Given the description of an element on the screen output the (x, y) to click on. 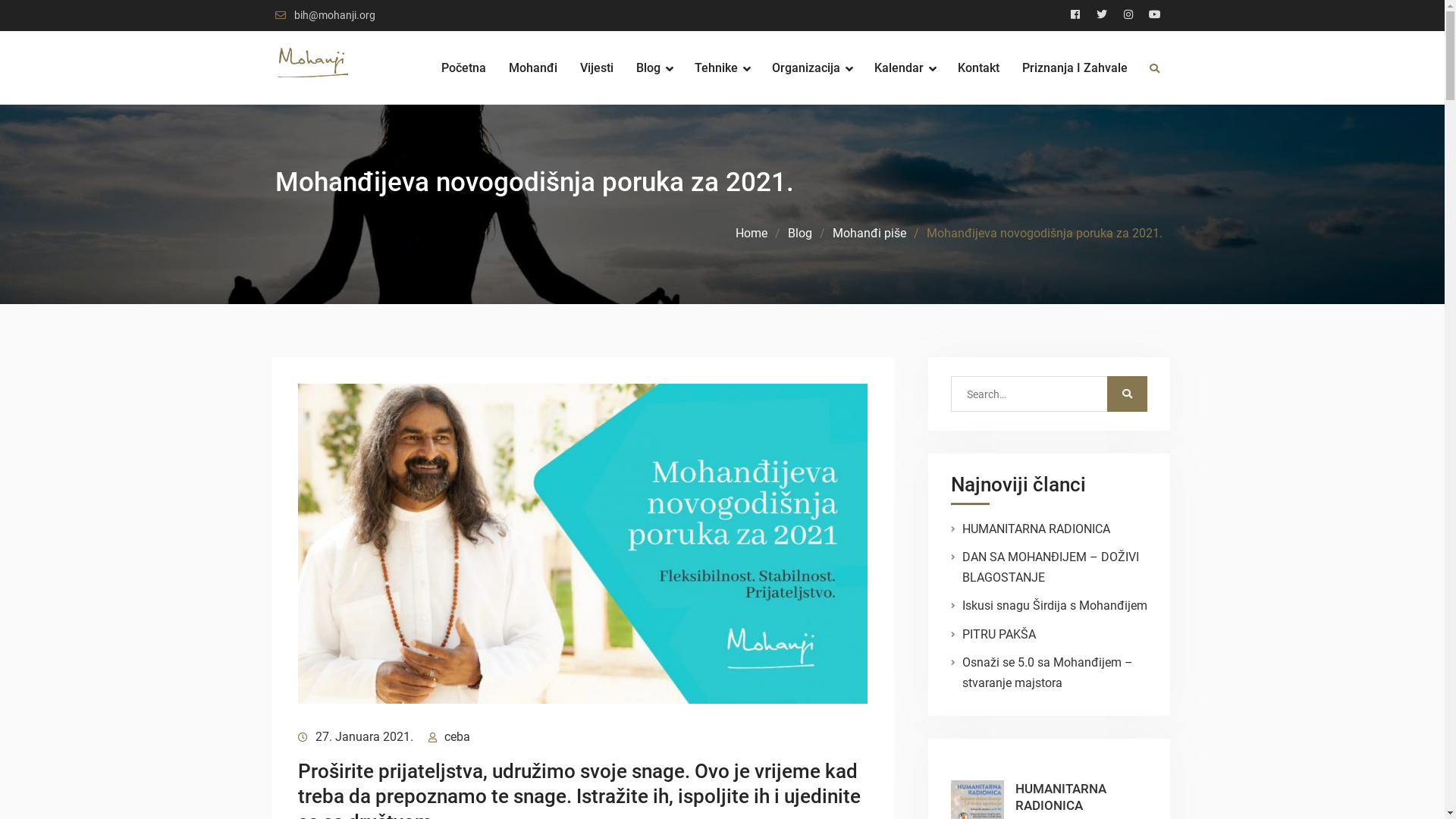
Twitter Element type: text (1101, 14)
Organizacija Element type: text (811, 67)
bih@mohanji.org Element type: text (334, 15)
YouTube Element type: text (1154, 14)
Home Element type: text (751, 232)
27. Januara 2021. Element type: text (364, 736)
Skip to content Element type: text (0, 0)
Facebook Element type: text (1074, 14)
Kalendar Element type: text (903, 67)
Blog Element type: text (653, 67)
Priznanja I Zahvale Element type: text (1074, 67)
Instagram Element type: text (1127, 14)
Blog Element type: text (799, 232)
Vijesti Element type: text (595, 67)
Kontakt Element type: text (977, 67)
HUMANITARNA RADIONICA Element type: text (1059, 796)
Search for: Element type: hover (1035, 393)
Tehnike Element type: text (721, 67)
ceba Element type: text (457, 736)
HUMANITARNA RADIONICA Element type: text (1035, 528)
